Given the description of an element on the screen output the (x, y) to click on. 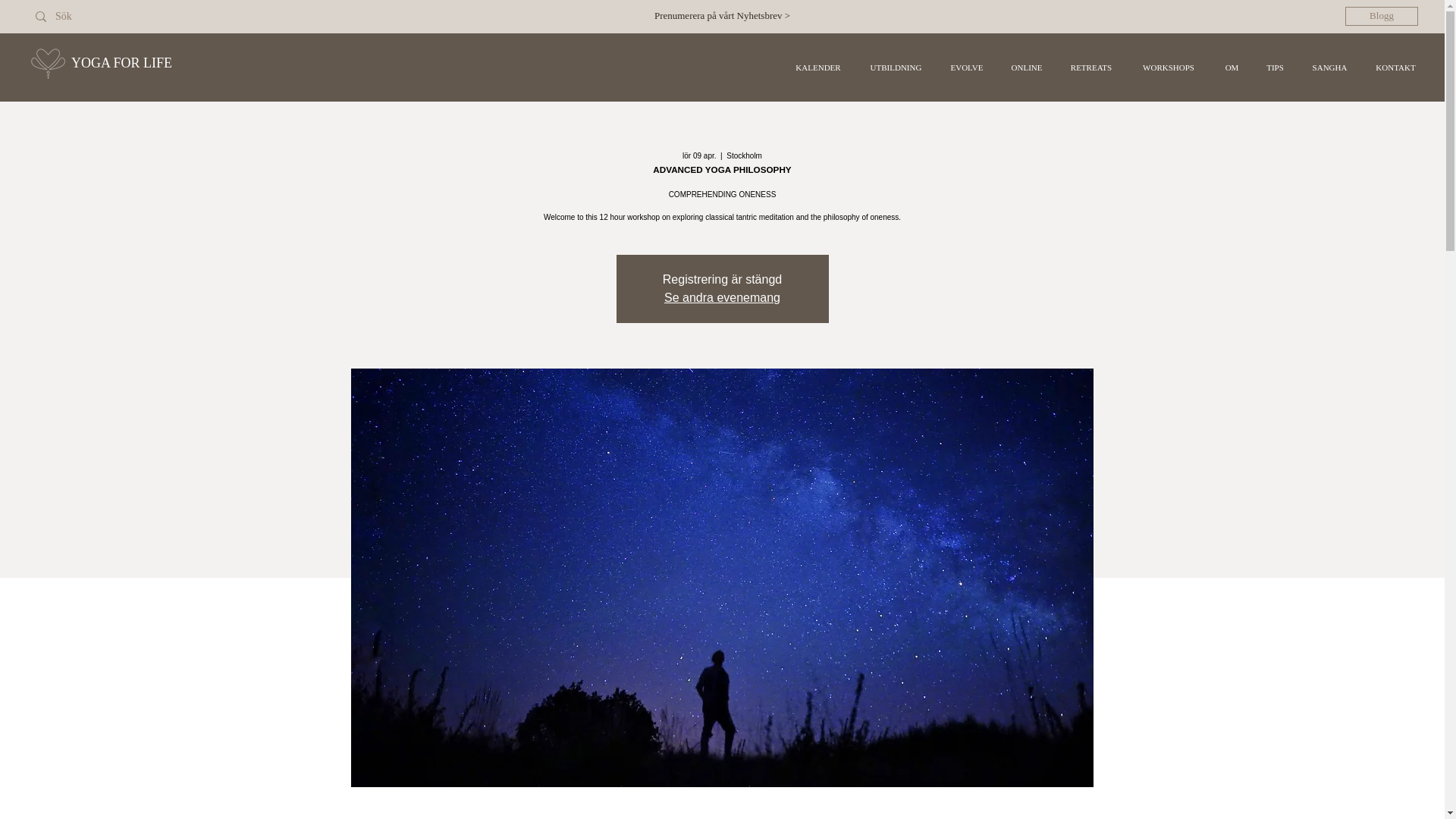
YOGA FOR LIFE (121, 62)
WORKSHOPS (1168, 67)
Blogg (1381, 15)
Se andra evenemang (721, 297)
SANGHA (1329, 67)
KALENDER (818, 67)
ONLINE (1027, 67)
OM (1231, 67)
KONTAKT (1395, 67)
EVOLVE (966, 67)
